Given the description of an element on the screen output the (x, y) to click on. 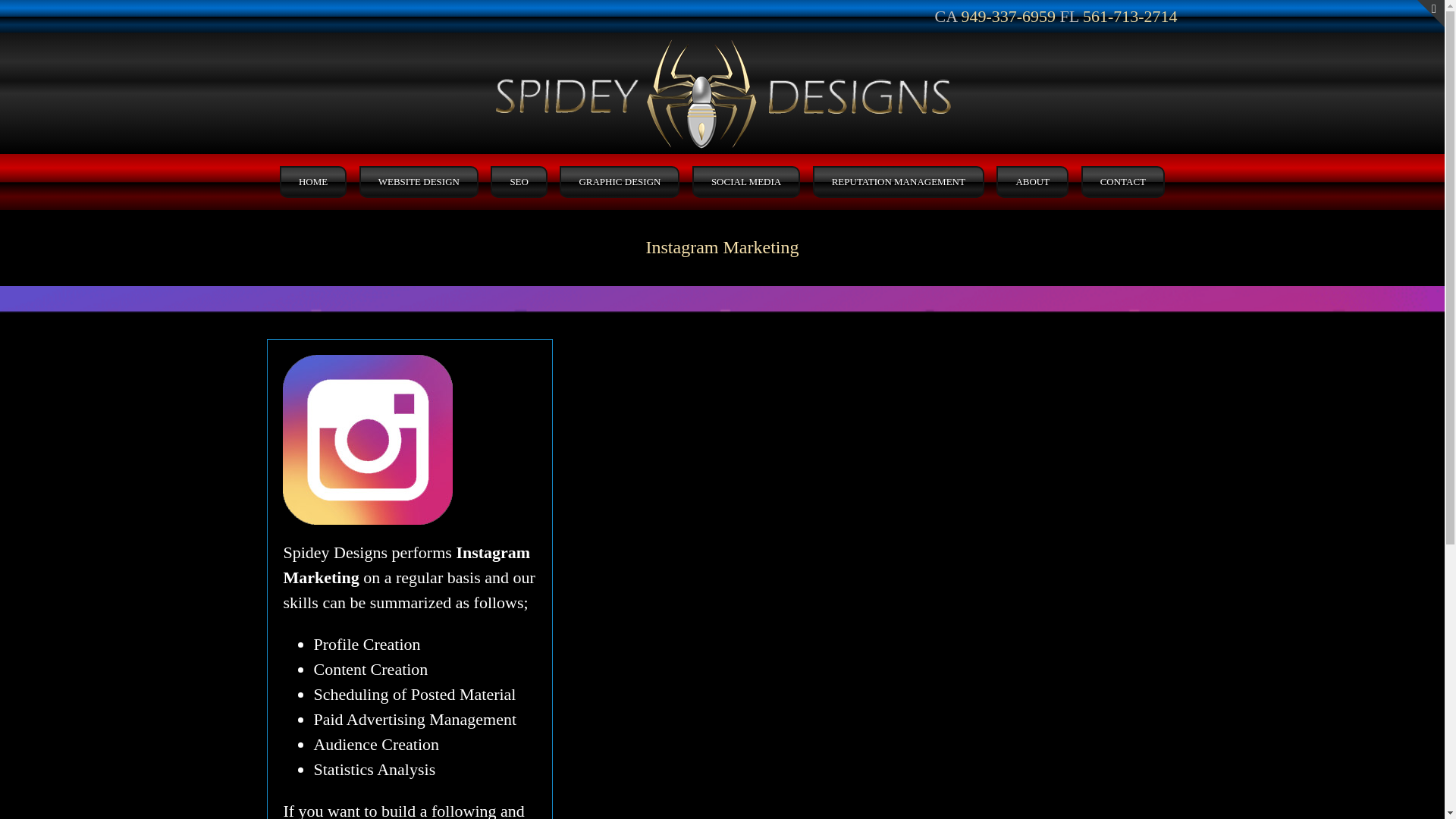
SEO (518, 182)
949-337-6959 (1007, 15)
Social Media Marketing in Port Saint Lucie (746, 182)
CONTACT (1122, 182)
ABOUT (1031, 182)
WEBSITE DESIGN (419, 182)
Internet Marketing Firm Spidey Designs of Port Saint Lucie (1031, 182)
SOCIAL MEDIA (746, 182)
Graphic Design in Port Saint Lucie (619, 182)
Port Saint Lucie Internet Marketing, SEO, Web Site Design (312, 182)
